Given the description of an element on the screen output the (x, y) to click on. 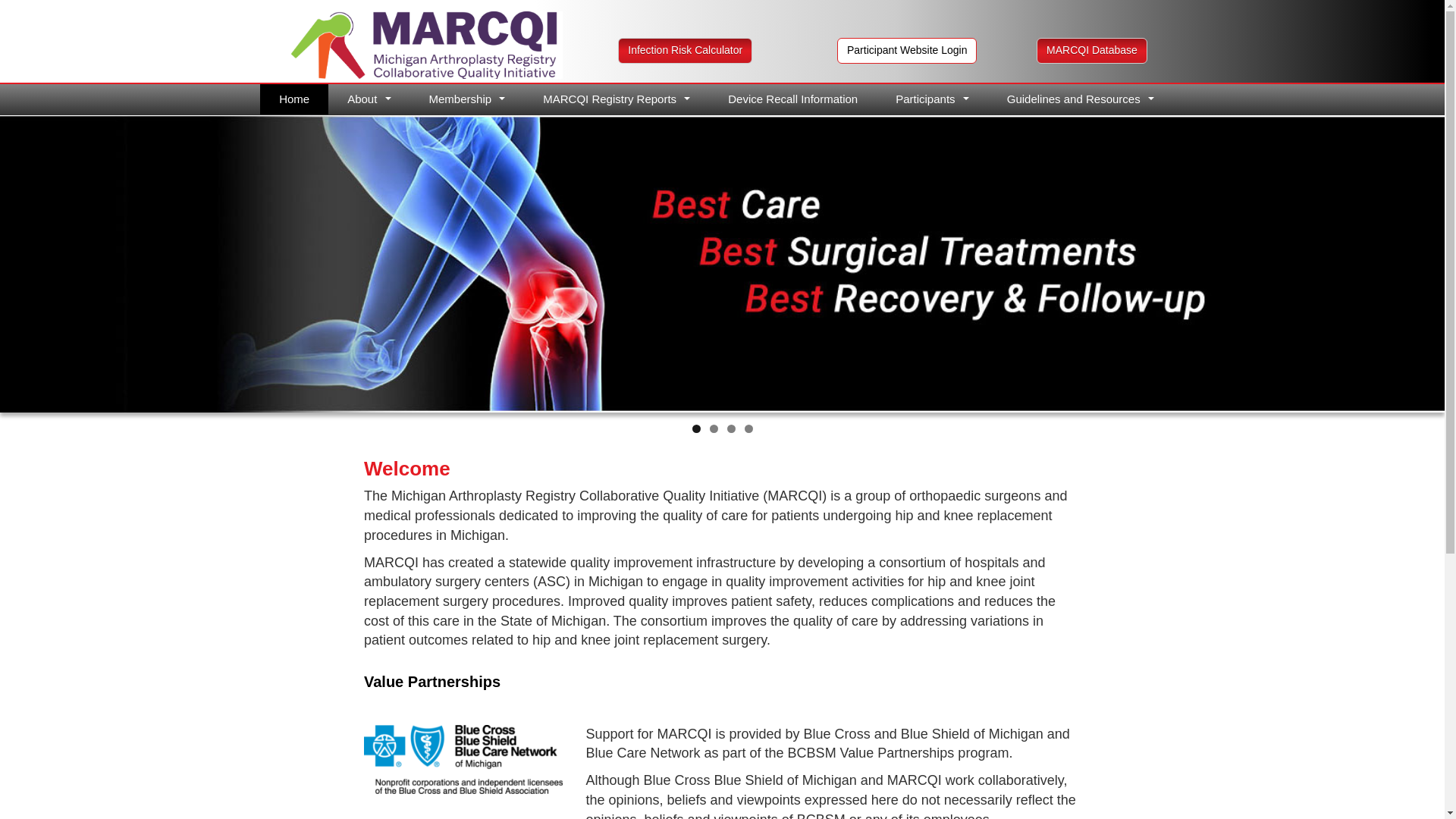
Membership (467, 99)
Device Recall Information (792, 99)
2 (713, 429)
Participants (932, 99)
MARCQI Registry Reports (616, 99)
Membership ... (467, 99)
About (369, 99)
Device Recall Information (792, 99)
1 (695, 429)
About ... (369, 99)
Home (294, 99)
4 (748, 429)
Guidelines and Resources ... (1080, 99)
3 (730, 429)
MARCQI Registry Reports ... (616, 99)
